Given the description of an element on the screen output the (x, y) to click on. 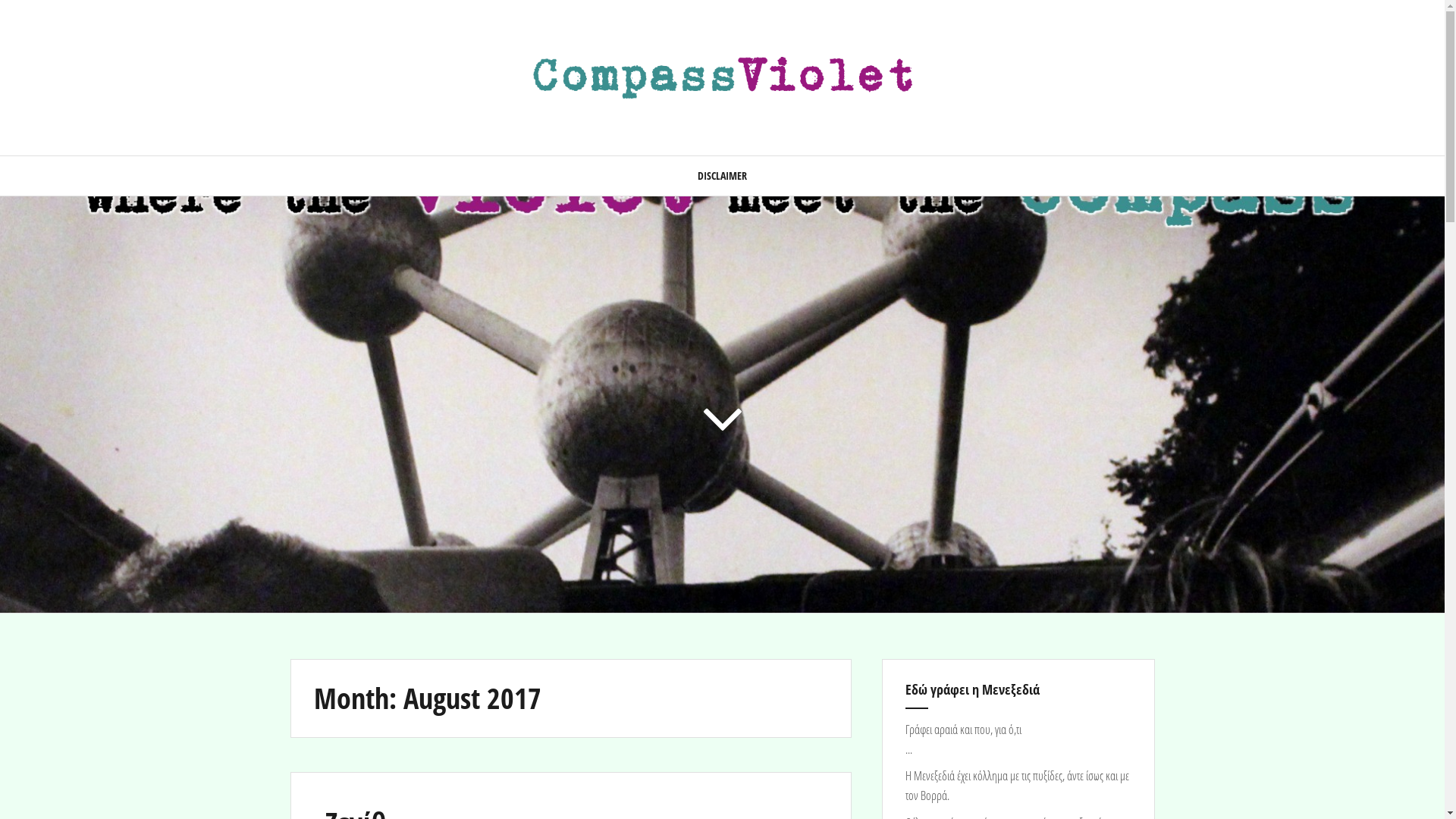
Search Element type: text (26, 21)
DISCLAIMER Element type: text (721, 175)
